Given the description of an element on the screen output the (x, y) to click on. 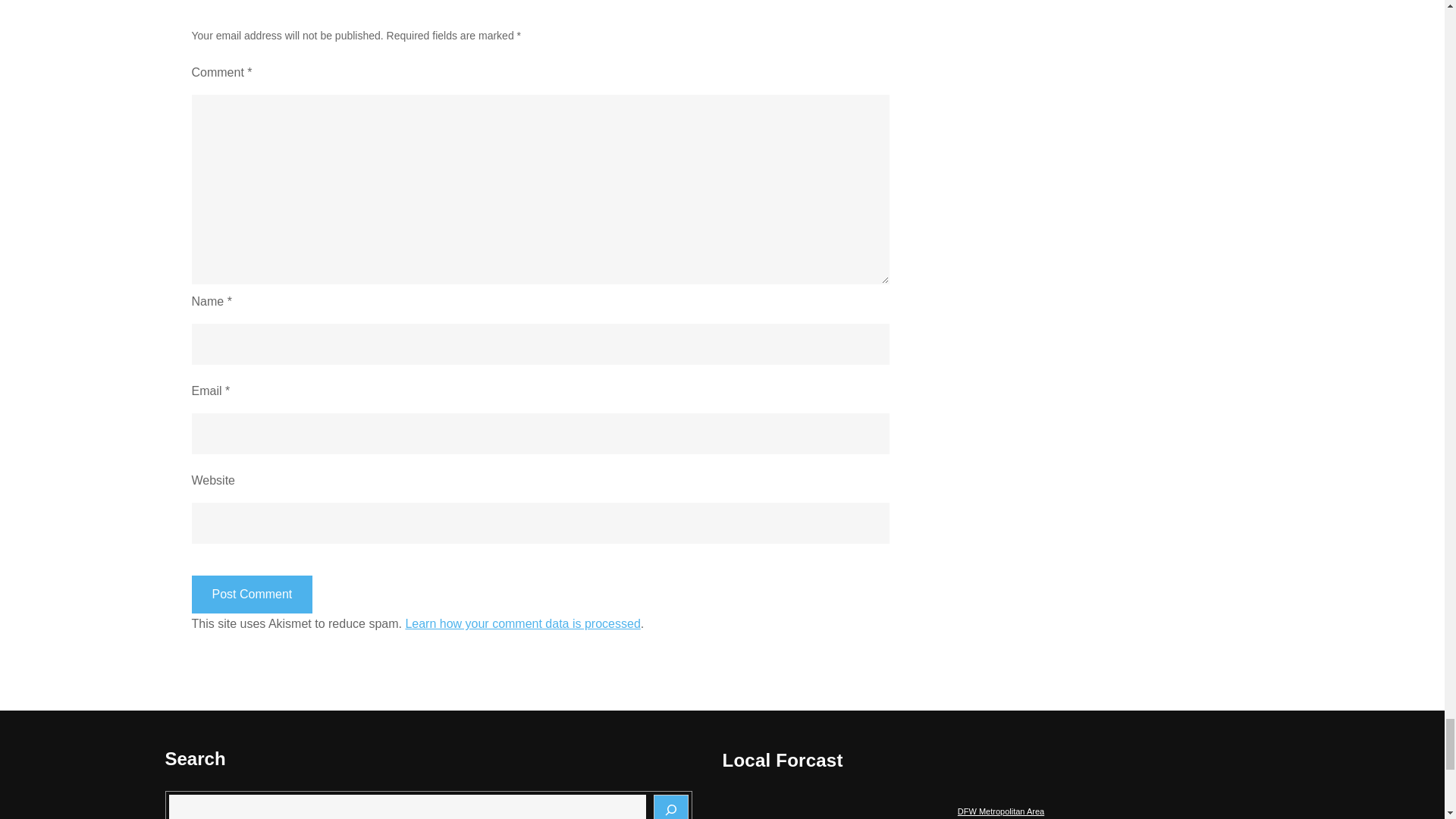
Post Comment (251, 594)
Post Comment (251, 594)
